Given the description of an element on the screen output the (x, y) to click on. 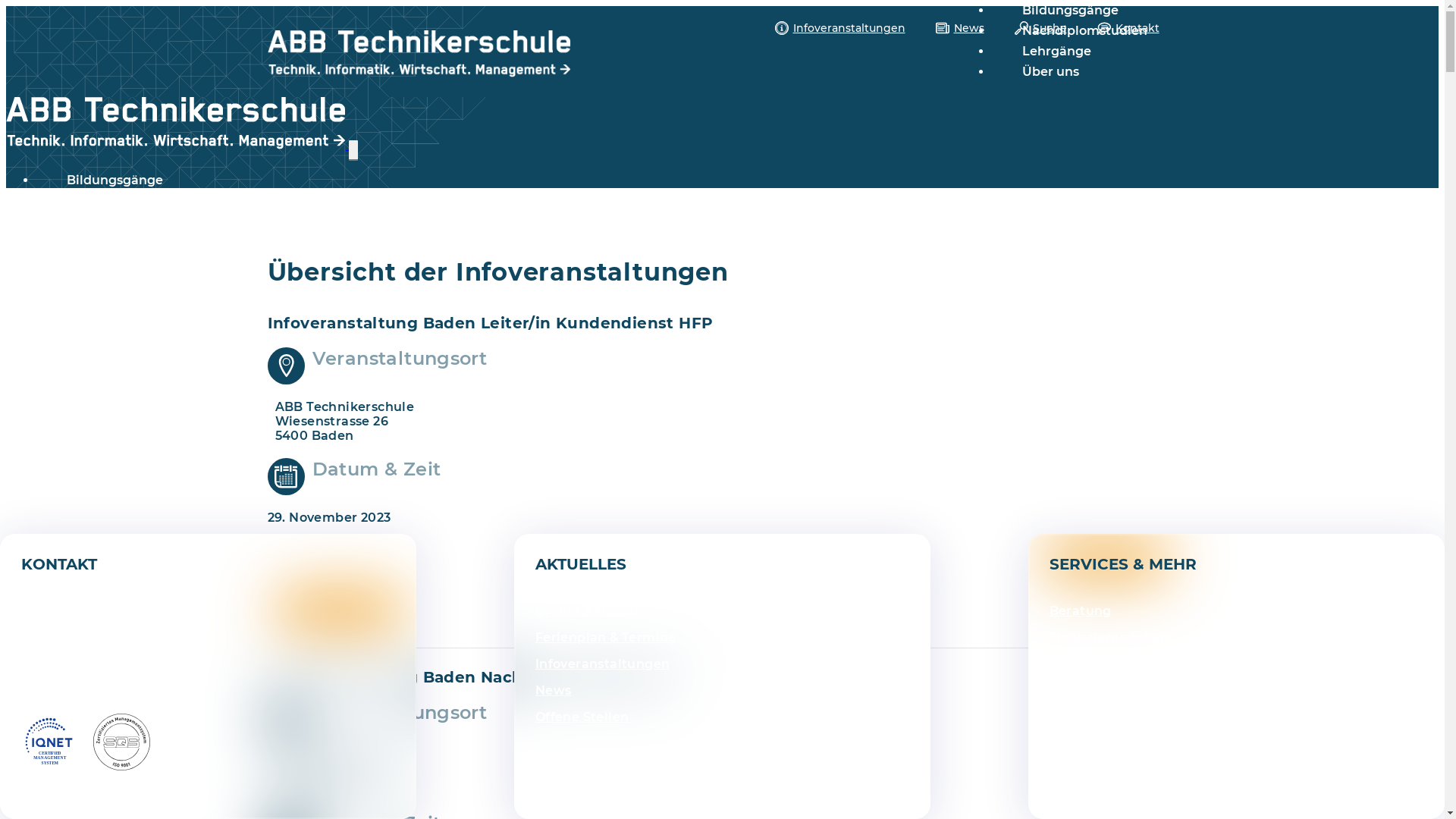
Offene Stellen Element type: text (582, 716)
News Element type: text (959, 27)
Standorte Element type: text (1082, 716)
Suche Element type: text (722, 334)
Kontakt Element type: text (1127, 27)
Nachdiplomstudien Element type: text (128, 199)
info@abbts.ch Element type: text (77, 689)
Anmelden Element type: text (1105, 557)
+41 56 560 01 70 Element type: text (81, 655)
Ferienplan & Termine Element type: text (605, 637)
Raumvermietung Element type: text (1107, 690)
News Element type: text (722, 308)
Infoveranstaltungen Element type: text (722, 284)
Nachdiplomstudien Element type: text (1084, 30)
Events & Messen Element type: text (589, 610)
Infoveranstaltungen Element type: text (840, 27)
Anmelden Element type: text (339, 609)
Beratung Element type: text (1080, 610)
Suche Element type: text (1040, 27)
Kontakt Element type: text (722, 358)
Infoveranstaltungen Element type: text (602, 663)
News Element type: text (553, 690)
Stipendien Element type: text (1085, 743)
